Given the description of an element on the screen output the (x, y) to click on. 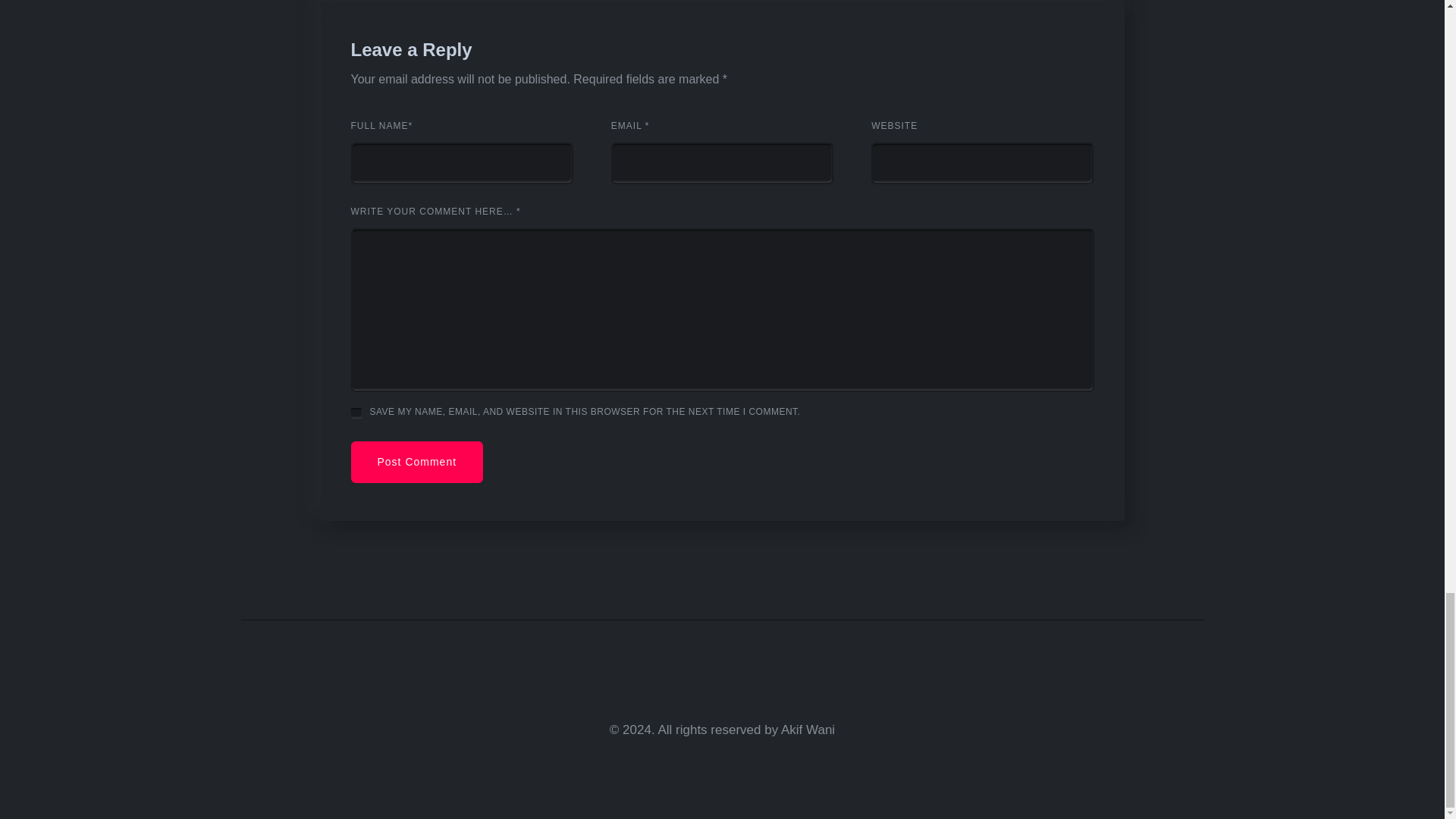
Post Comment (416, 462)
Post Comment (416, 462)
